Given the description of an element on the screen output the (x, y) to click on. 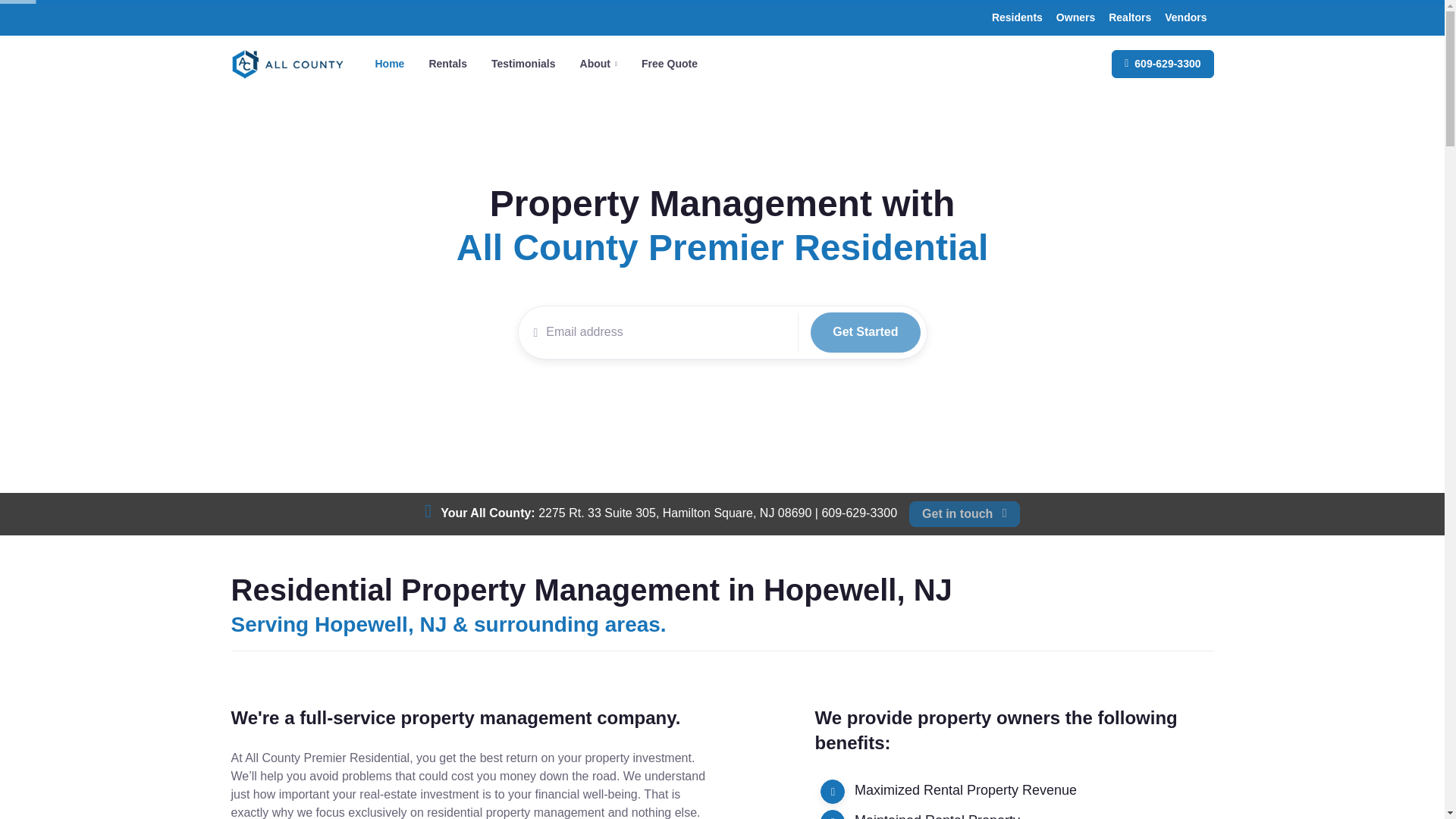
Free Quote (669, 63)
All County Premier Residential (722, 247)
Testimonials (523, 63)
Owners (1075, 17)
Vendors (1184, 17)
Get in touch (958, 512)
Maintained Rental Property (535, 63)
Get in touch (937, 816)
609-629-3300 (964, 514)
